Given the description of an element on the screen output the (x, y) to click on. 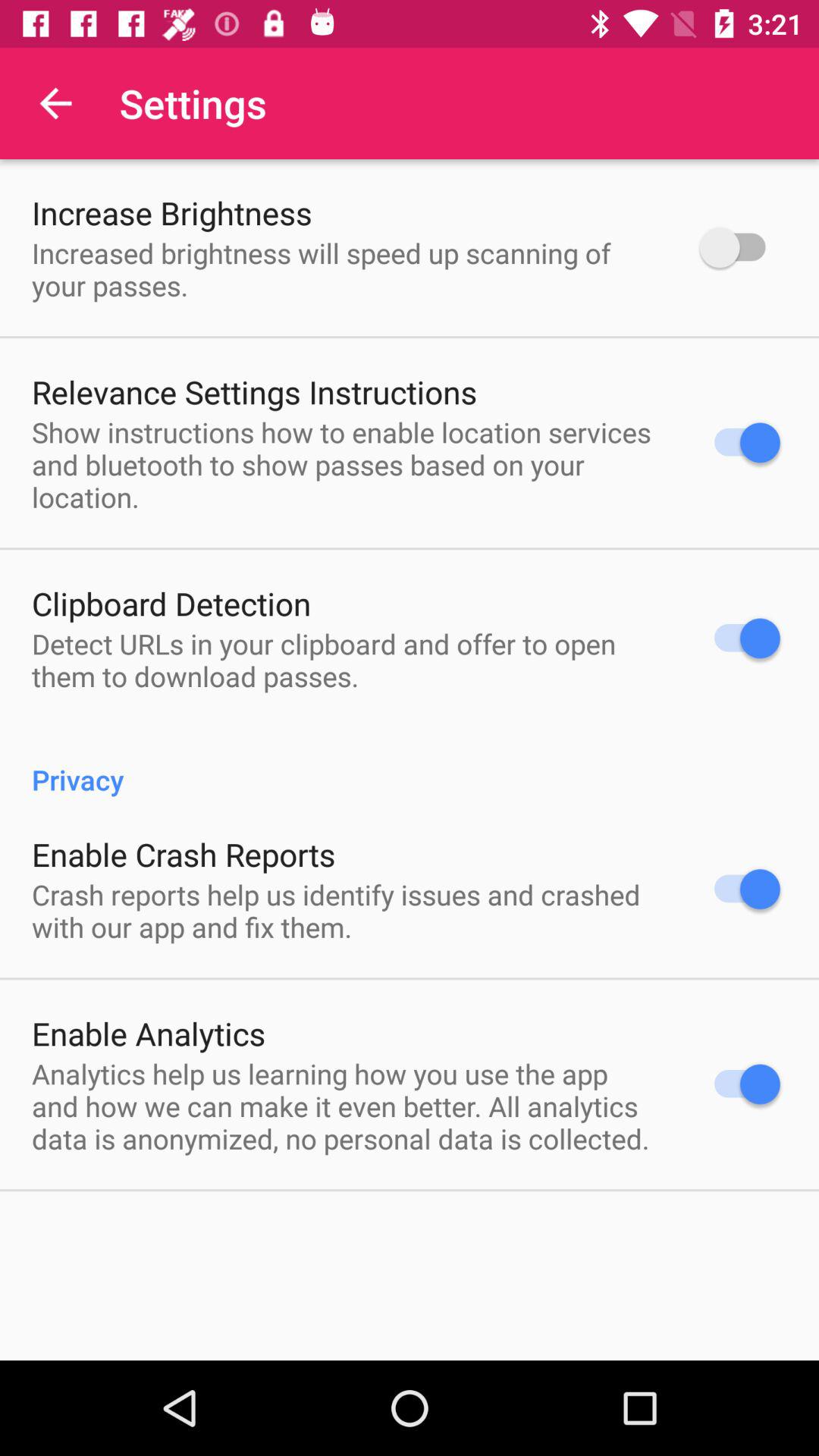
turn on the privacy icon (409, 763)
